Given the description of an element on the screen output the (x, y) to click on. 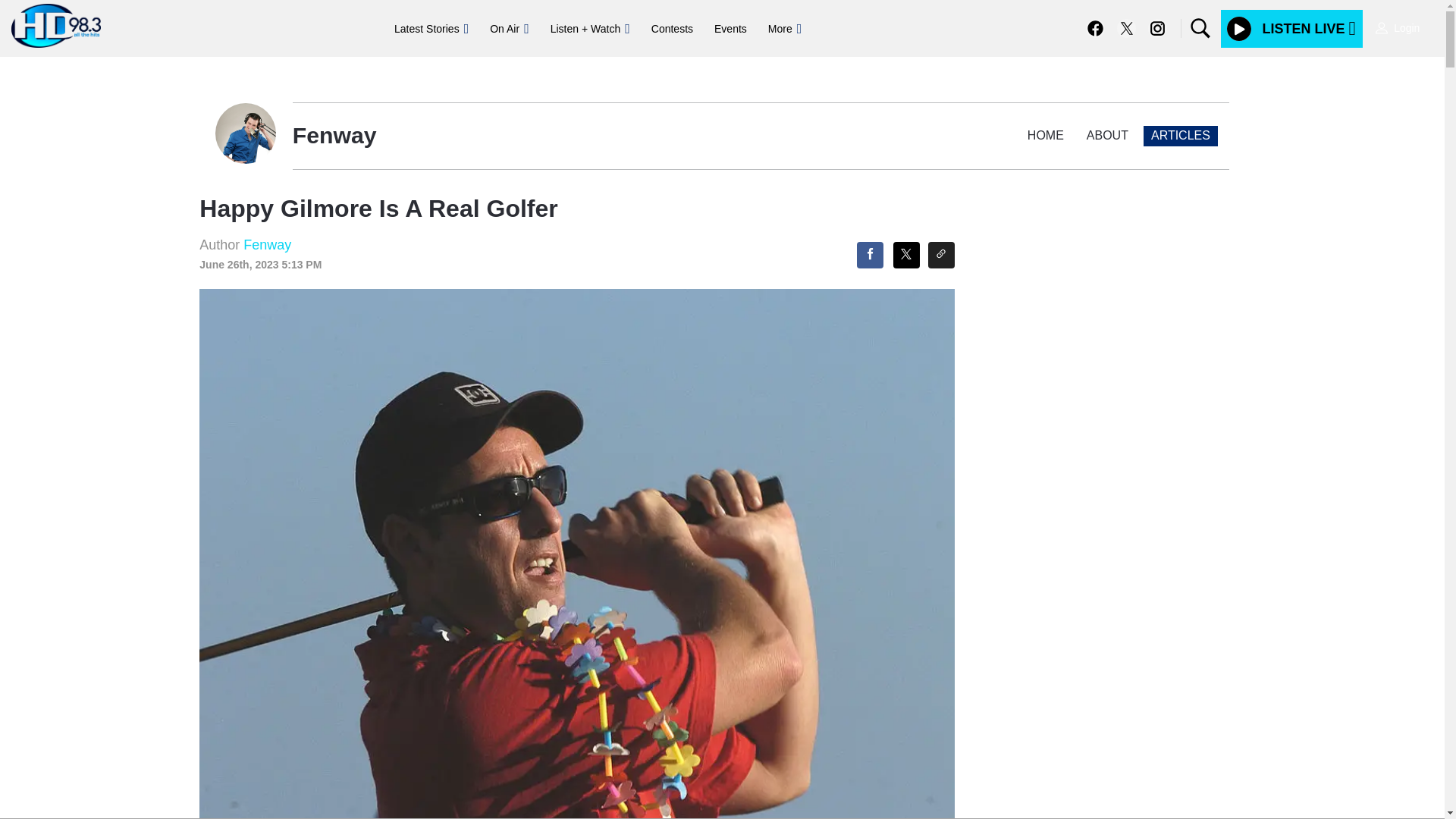
More (784, 28)
Latest Stories (431, 28)
Contests (671, 28)
Fenway (267, 244)
On Air (508, 28)
Events (730, 28)
